Given the description of an element on the screen output the (x, y) to click on. 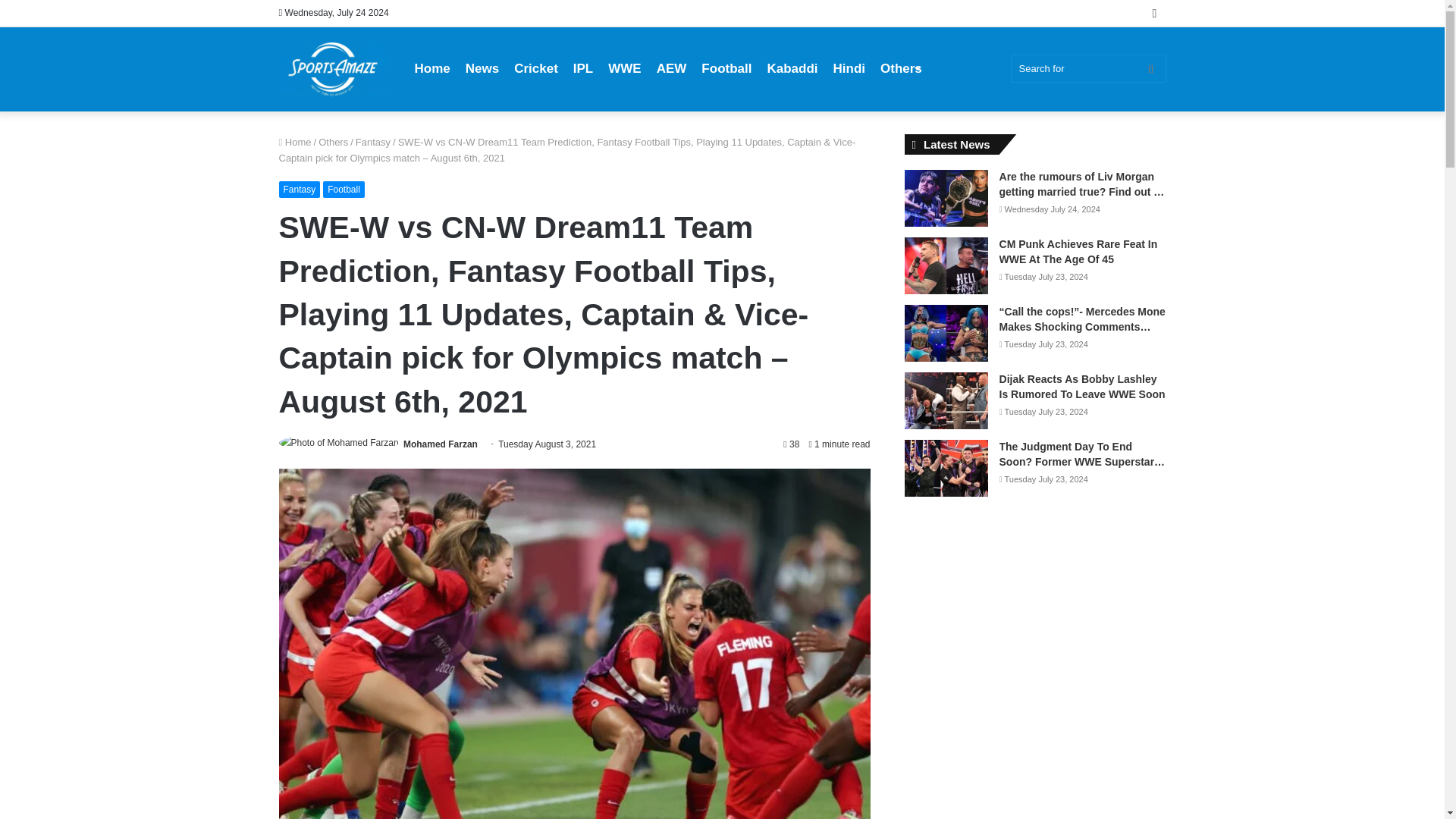
Random Article (1154, 13)
Hindi (849, 68)
Search for (1088, 68)
IPL (582, 68)
Cricket (536, 68)
Search for (1150, 68)
Mohamed Farzan (440, 443)
Random Article (1154, 13)
Mohamed Farzan (440, 443)
Fantasy (372, 142)
Football (344, 189)
WWE (623, 68)
Others (332, 142)
Home (431, 68)
Sports Amaze (333, 68)
